Given the description of an element on the screen output the (x, y) to click on. 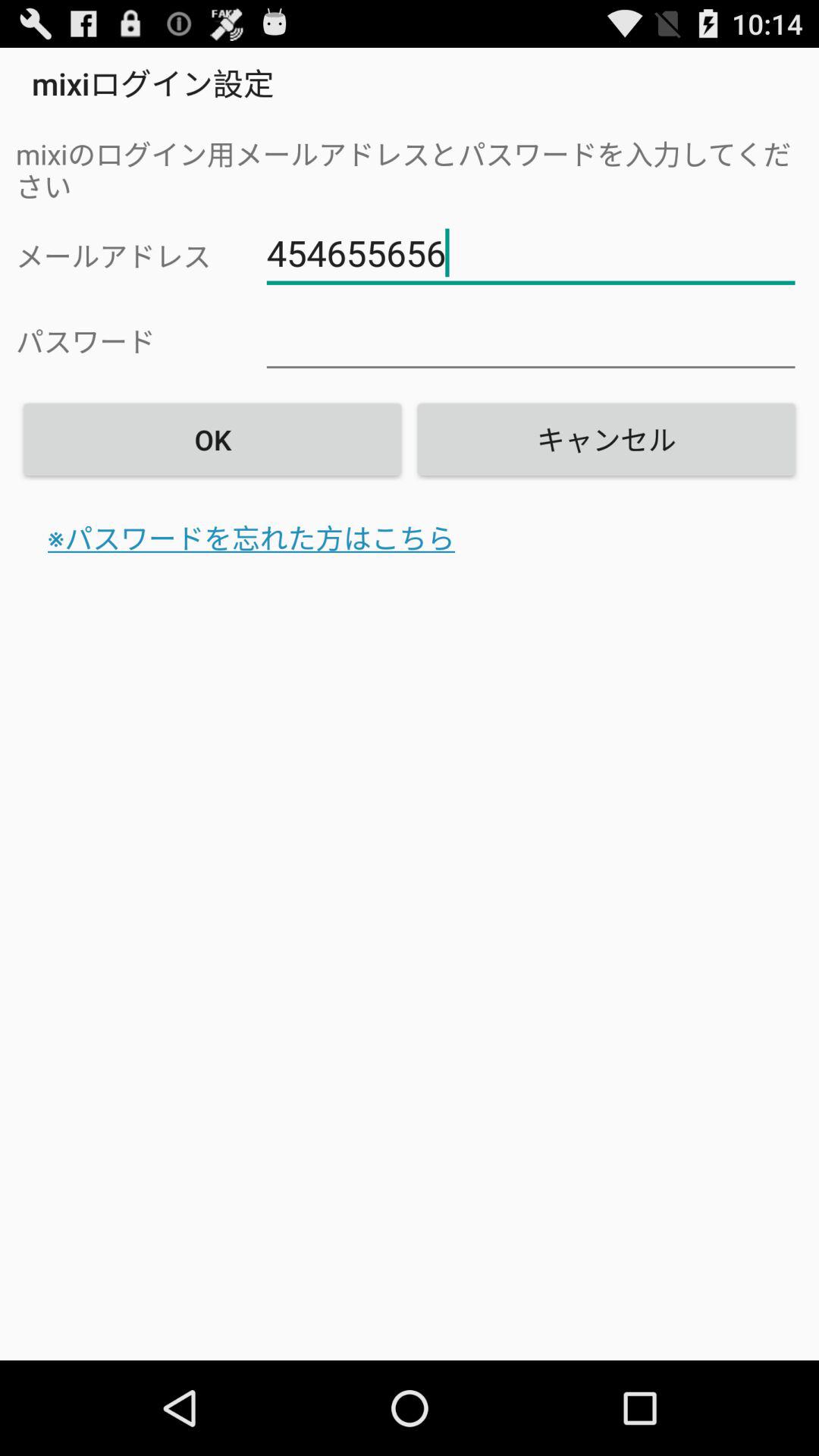
select item above the ok item (530, 338)
